Given the description of an element on the screen output the (x, y) to click on. 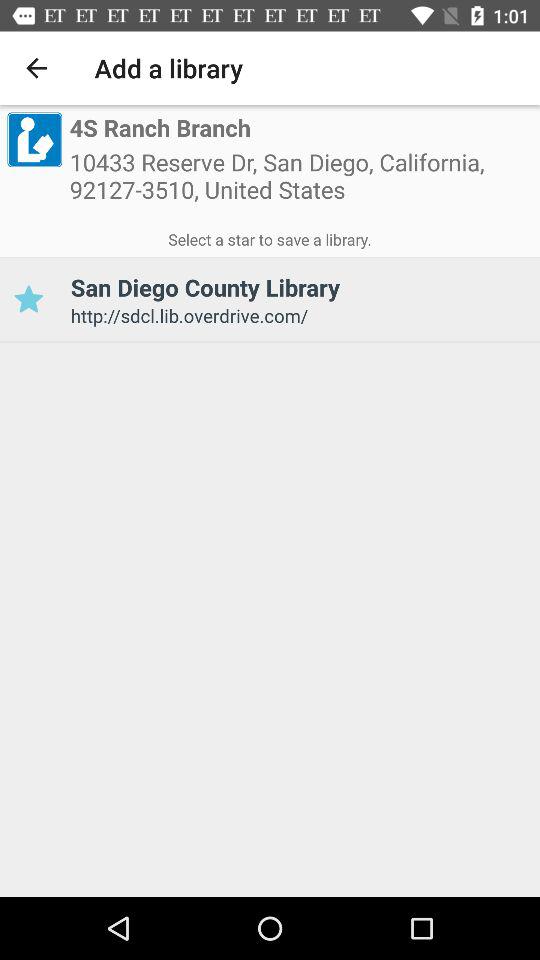
save san diego county library (28, 299)
